Given the description of an element on the screen output the (x, y) to click on. 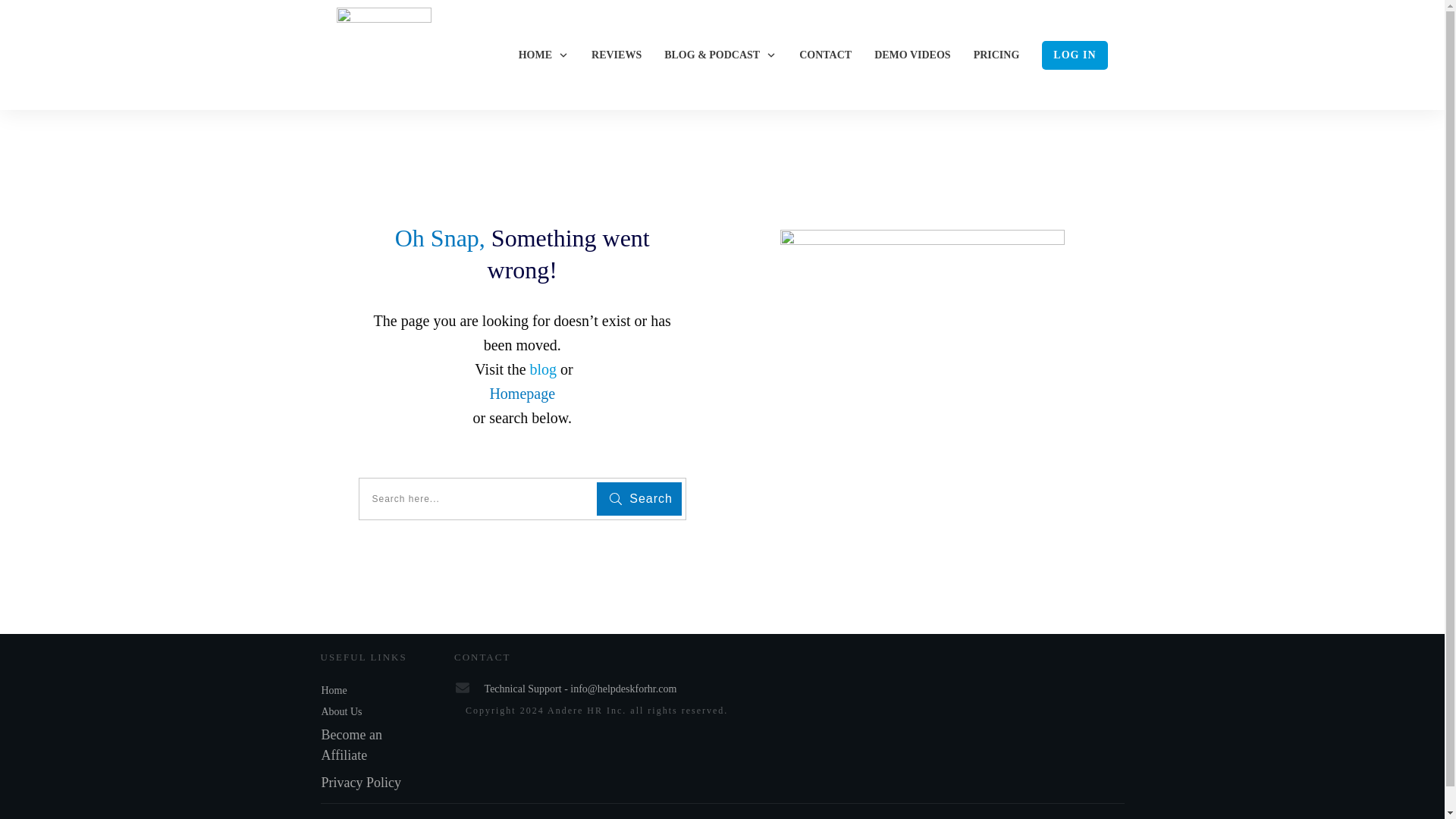
CONTACT (825, 54)
HOME (543, 54)
LOG IN (1074, 54)
HR Manager Shhh (922, 372)
Homepage (521, 393)
REVIEWS (616, 54)
PRICING (997, 54)
About Us (341, 710)
Become an Affiliate (351, 744)
DEMO VIDEOS (912, 54)
Home (334, 689)
Hd for HR logo (383, 54)
Privacy Policy (361, 782)
blog (543, 369)
Search (638, 498)
